Given the description of an element on the screen output the (x, y) to click on. 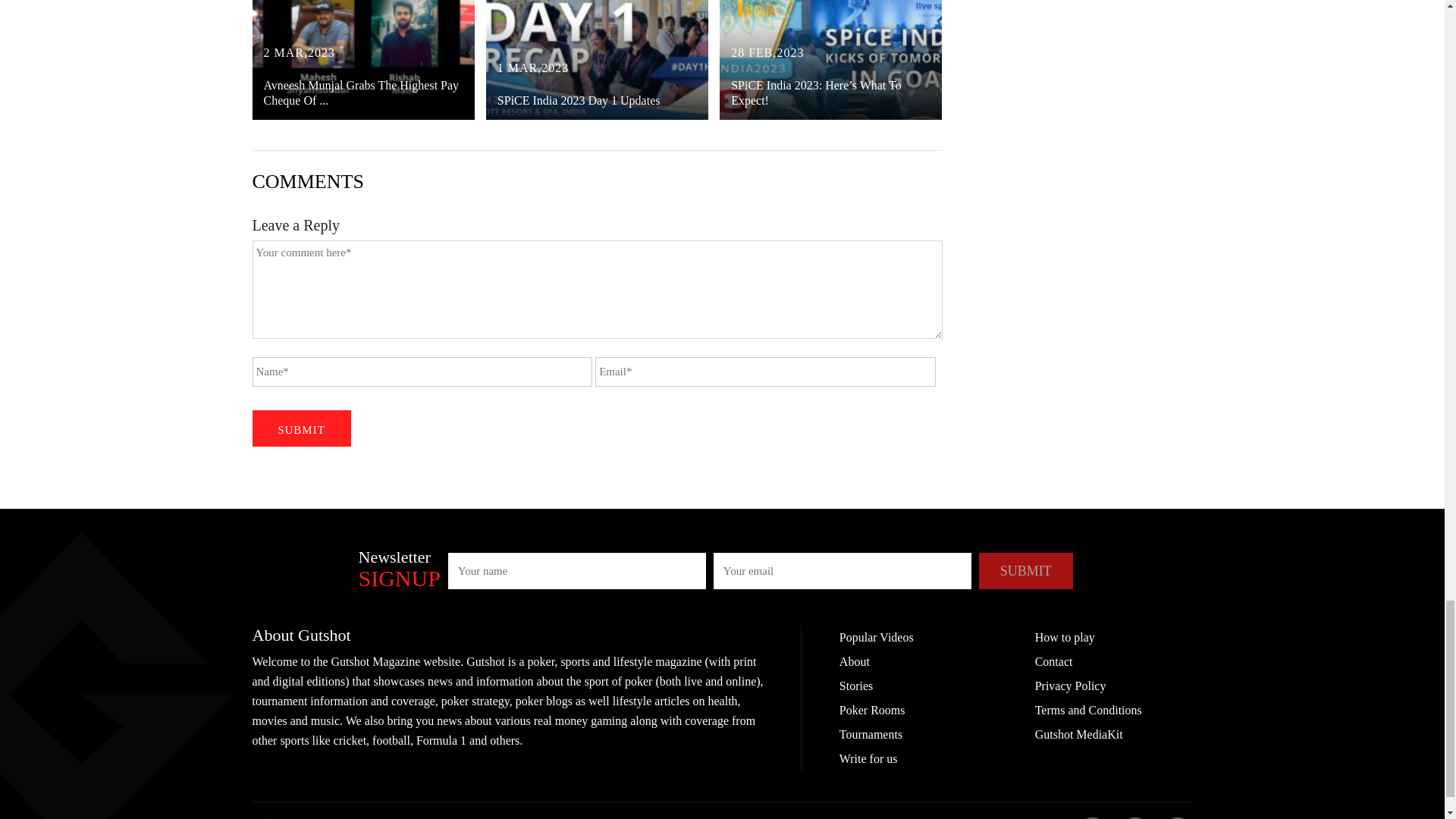
Submit (300, 428)
Submit (1025, 570)
